Given the description of an element on the screen output the (x, y) to click on. 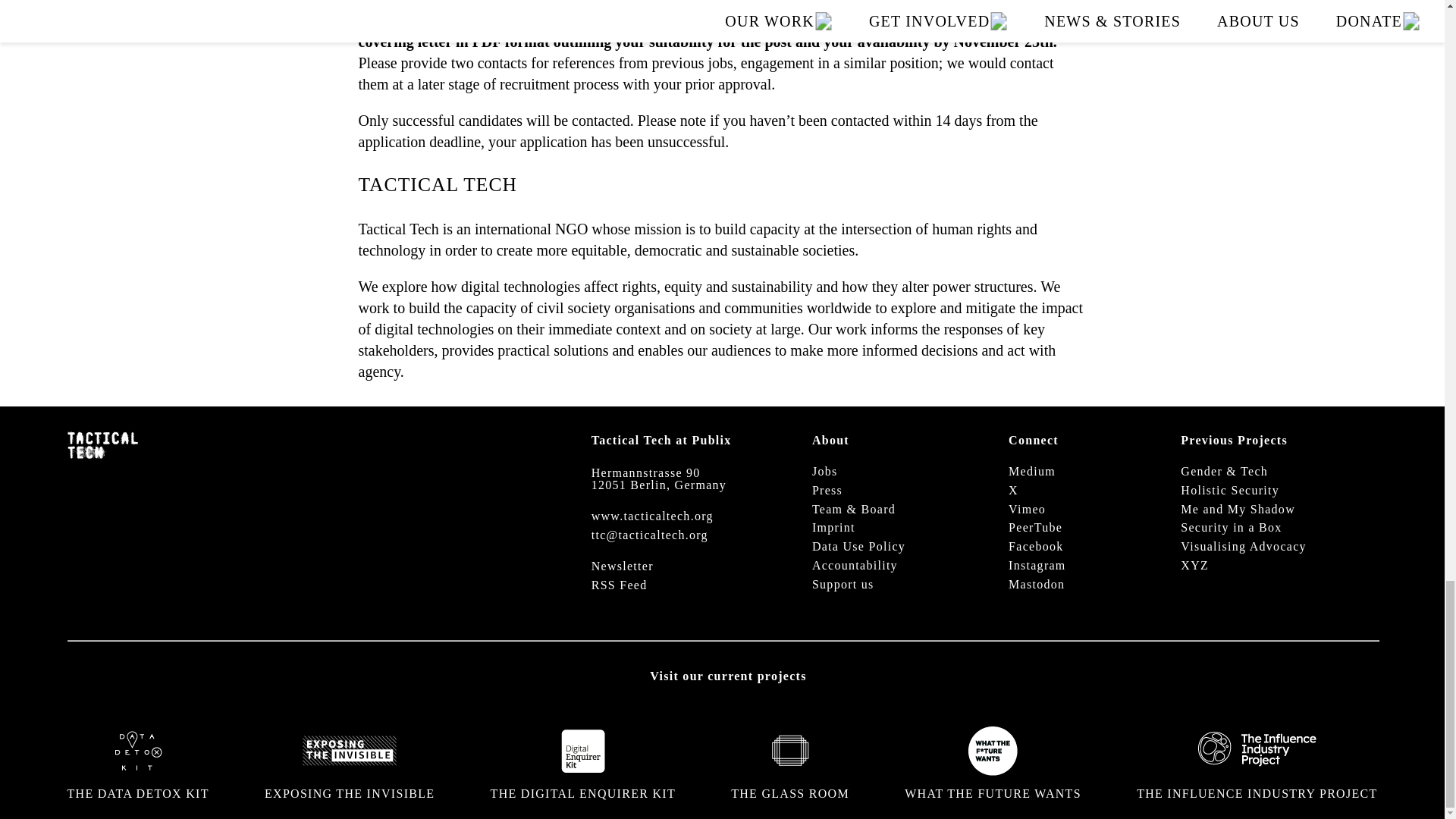
RSS Feed (619, 584)
Facebook (1035, 546)
PeerTube (1035, 527)
Mastodon (1036, 584)
Medium (1032, 472)
Vimeo (1027, 509)
Press (827, 490)
Me and My Shadow (1237, 508)
Imprint (834, 527)
Instagram (1037, 565)
